Given the description of an element on the screen output the (x, y) to click on. 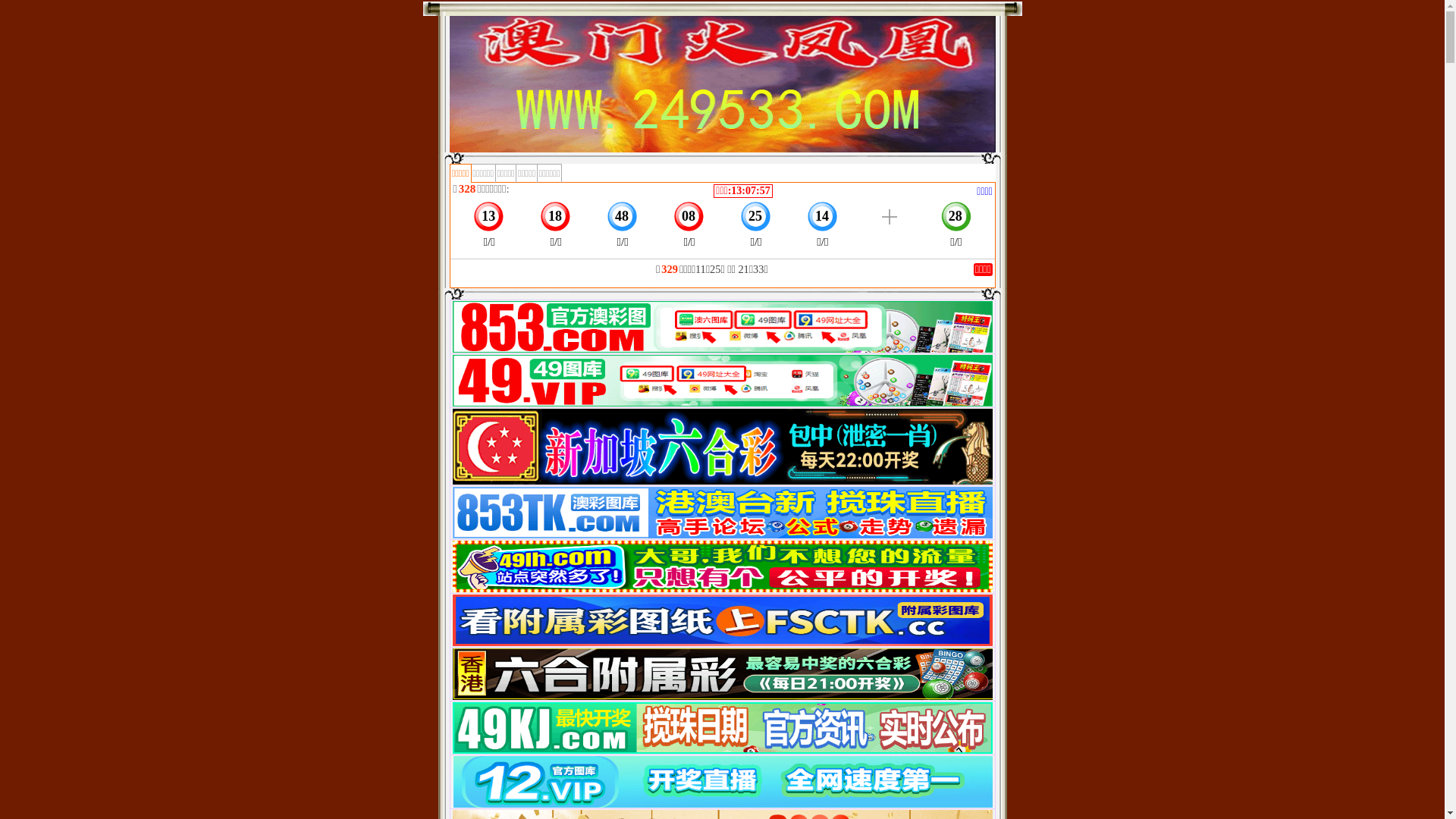
10.29--01.30 Element type: hover (721, 481)
